Given the description of an element on the screen output the (x, y) to click on. 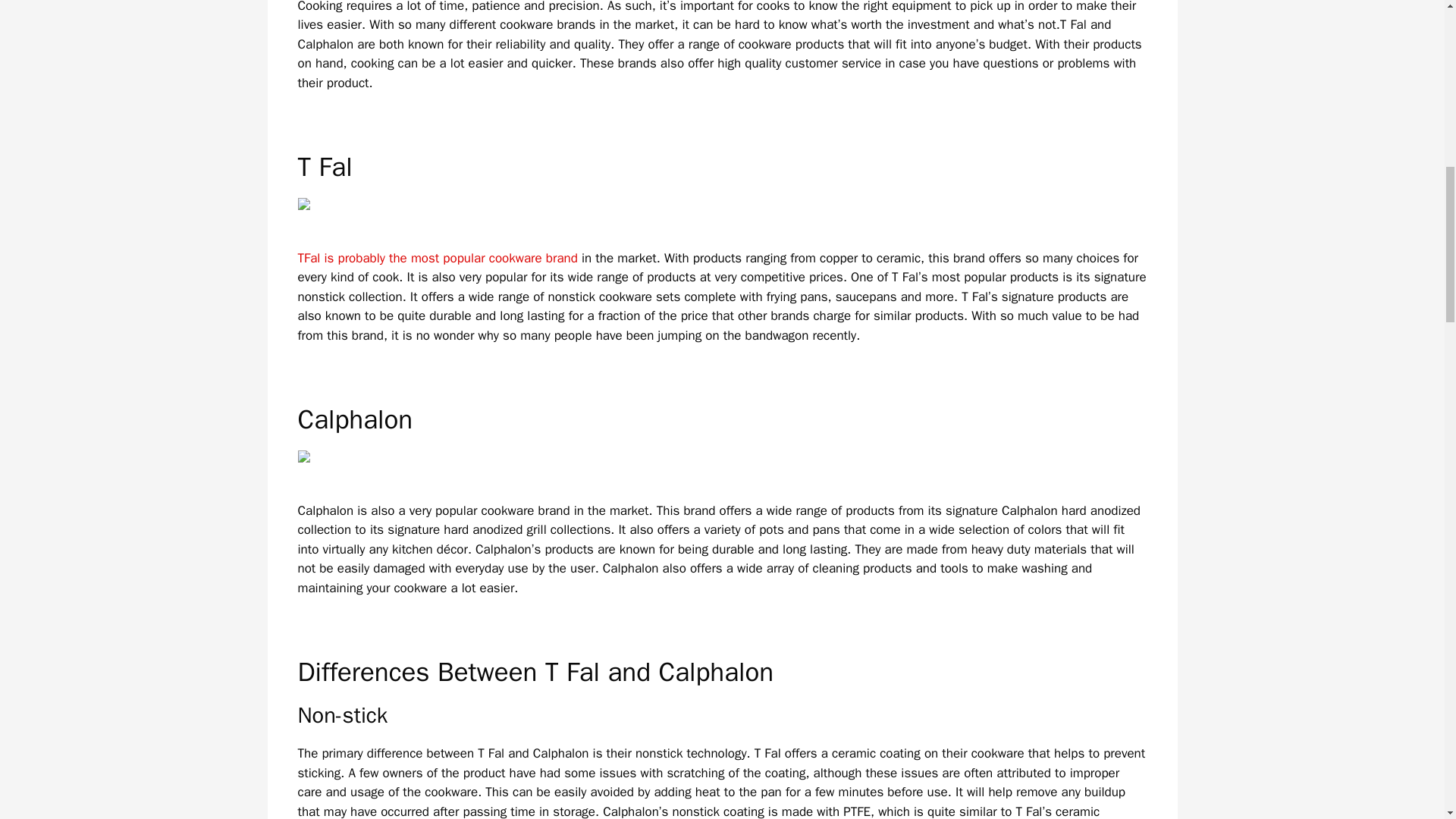
Scroll back to top (1406, 720)
TFal is probably the most popular cookware brand (436, 258)
